Given the description of an element on the screen output the (x, y) to click on. 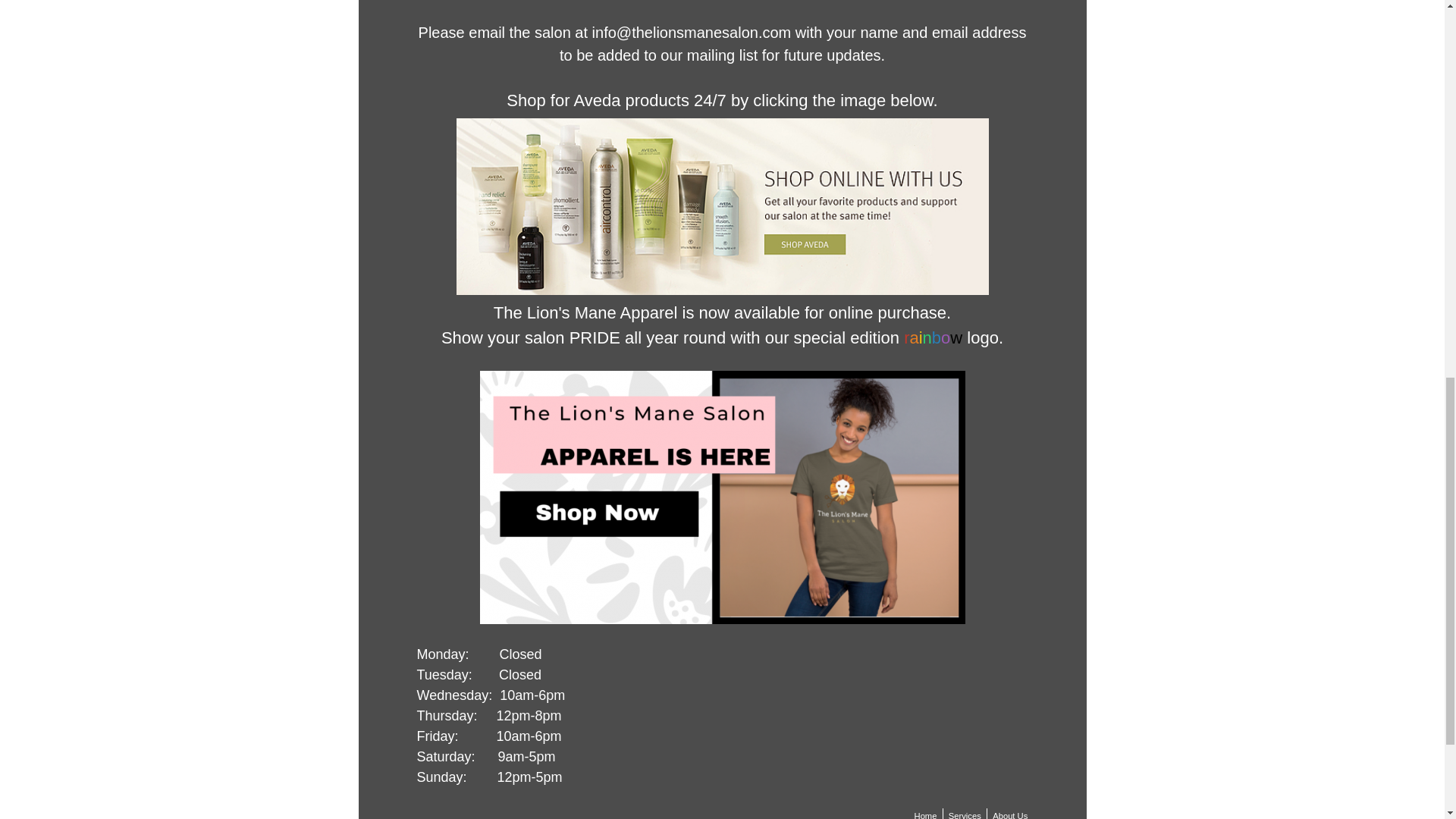
Home (925, 813)
Services (964, 813)
Services (964, 813)
About Us (1009, 813)
Home (925, 813)
About Us (1009, 813)
